Given the description of an element on the screen output the (x, y) to click on. 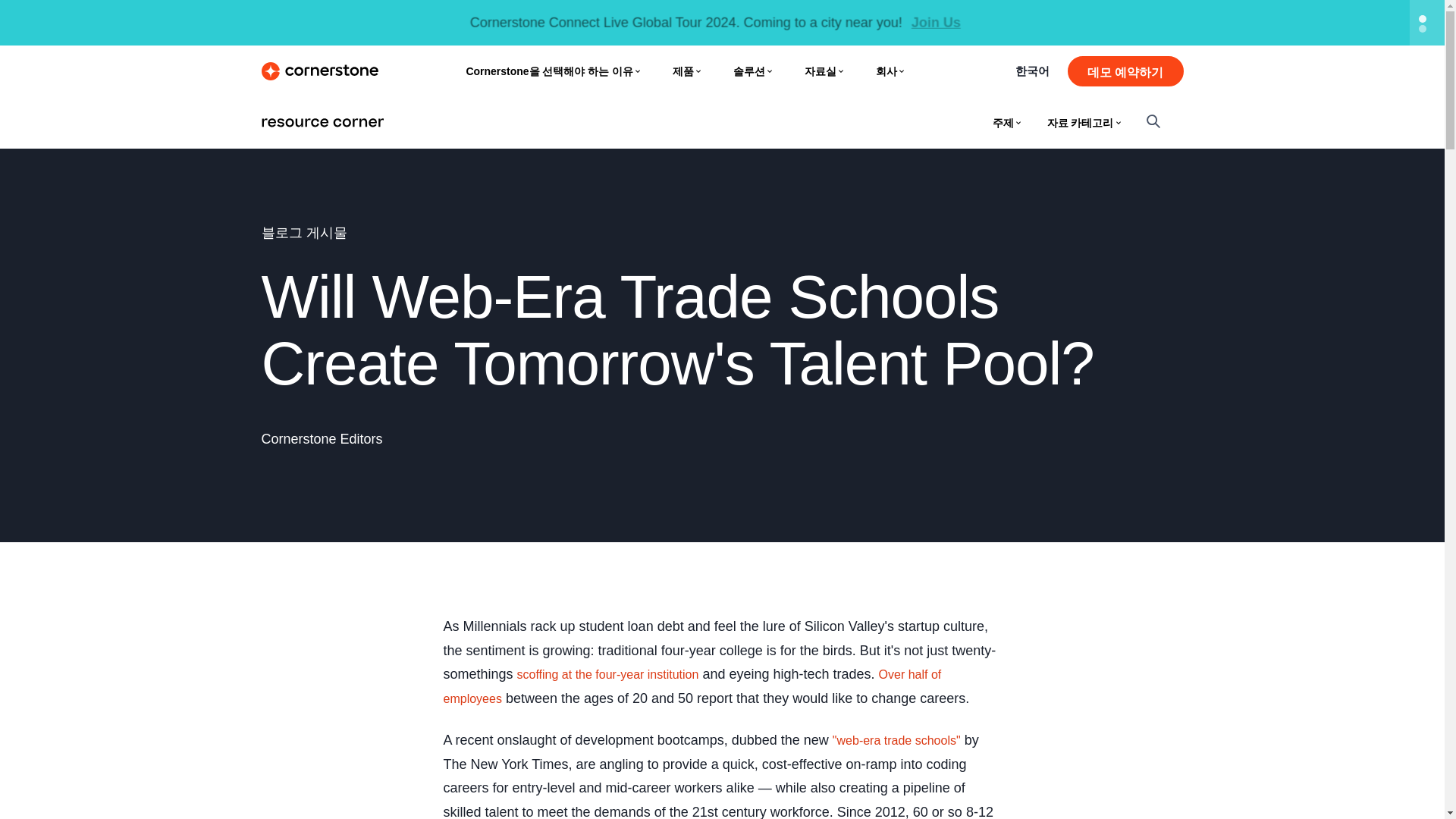
Join Us (935, 22)
